Given the description of an element on the screen output the (x, y) to click on. 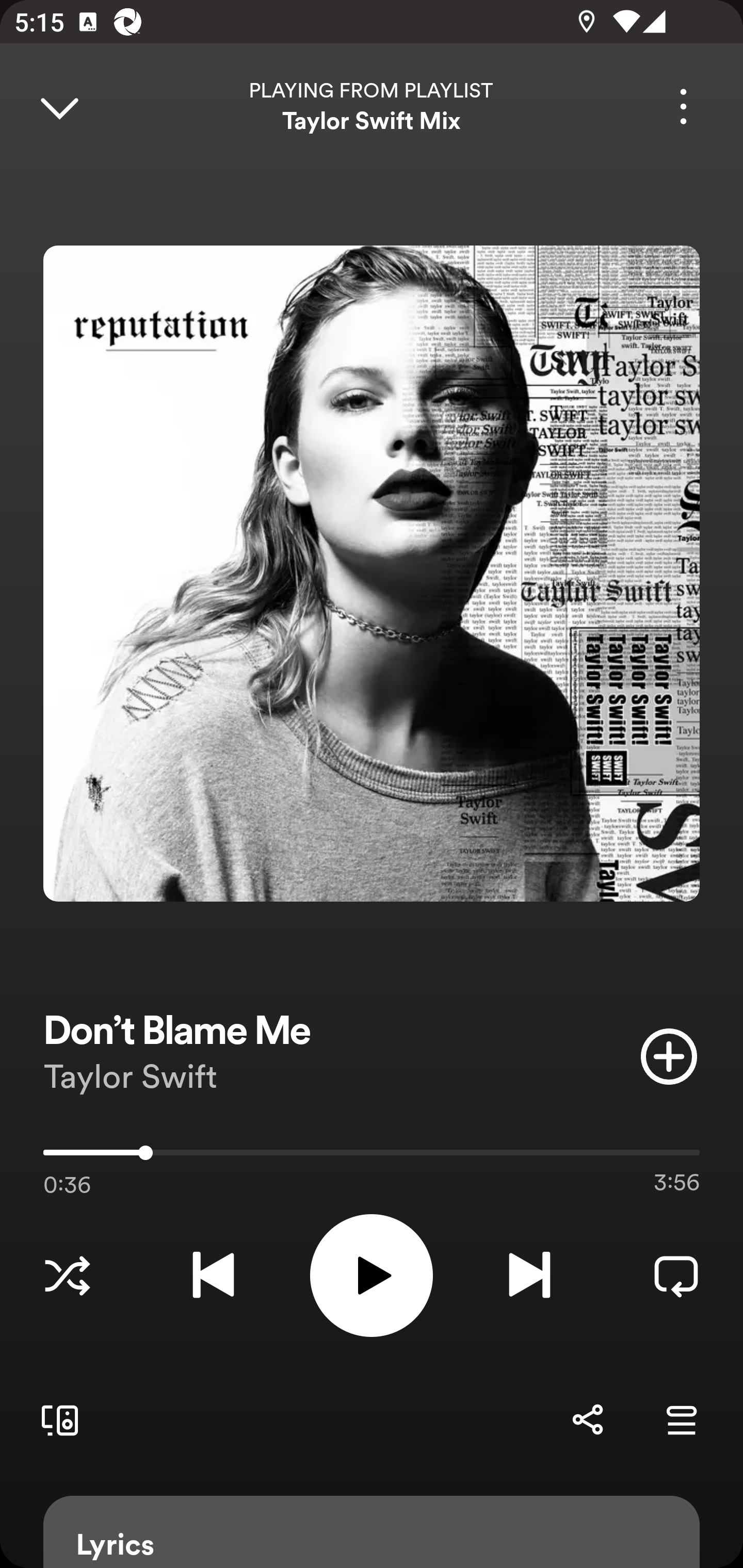
Close (59, 106)
More options for song Don’t Blame Me (683, 106)
PLAYING FROM PLAYLIST Taylor Swift Mix (371, 106)
Add item (669, 1056)
0:36 3:56 36741.0 Use volume keys to adjust (371, 1157)
Play (371, 1275)
Previous (212, 1275)
Next (529, 1275)
Choose a Listening Mode (66, 1275)
Repeat (676, 1275)
Share (587, 1419)
Go to Queue (681, 1419)
Connect to a device. Opens the devices menu (55, 1419)
Lyrics (371, 1531)
